Given the description of an element on the screen output the (x, y) to click on. 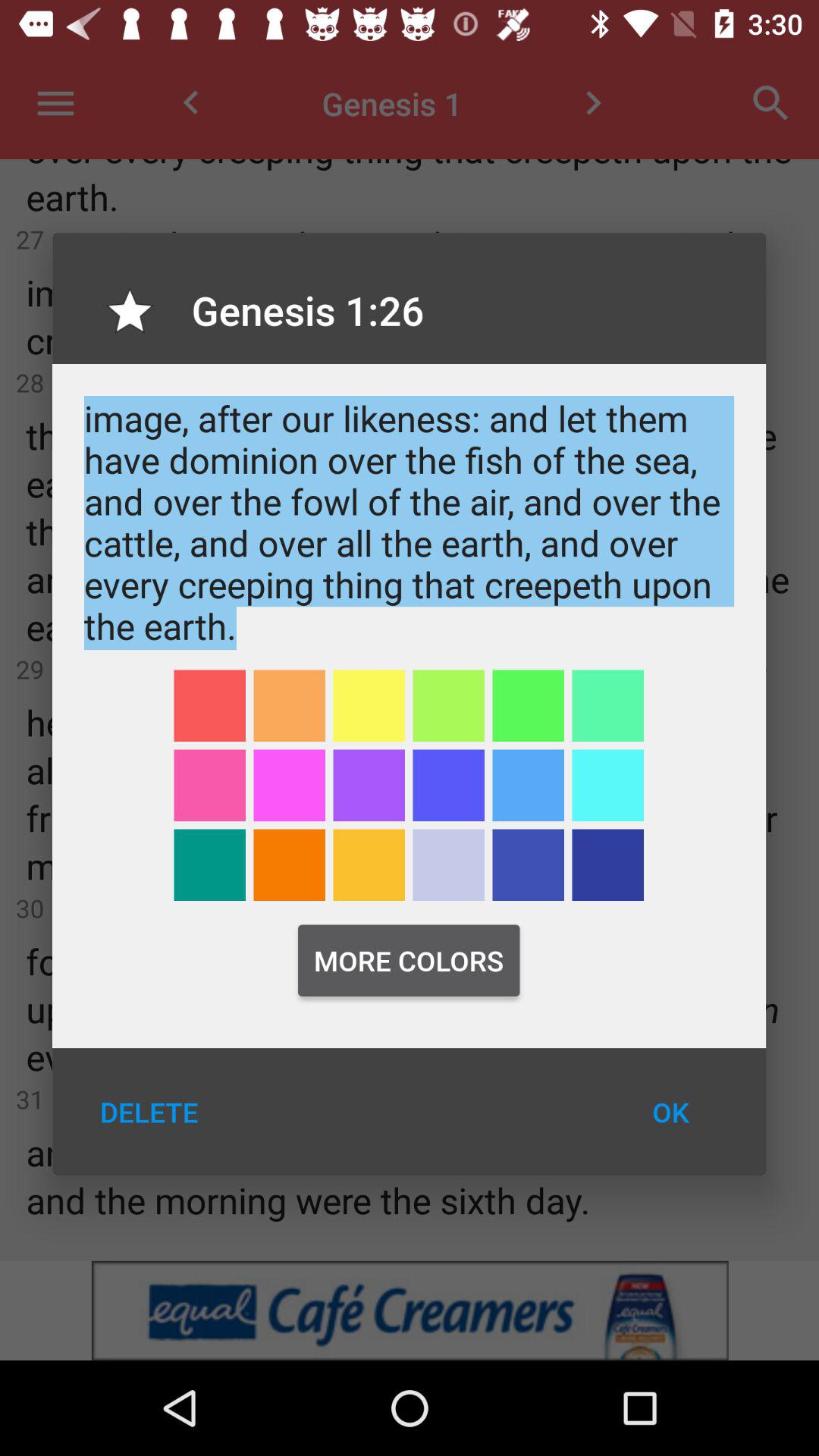
turn on the icon below and god said (289, 705)
